Given the description of an element on the screen output the (x, y) to click on. 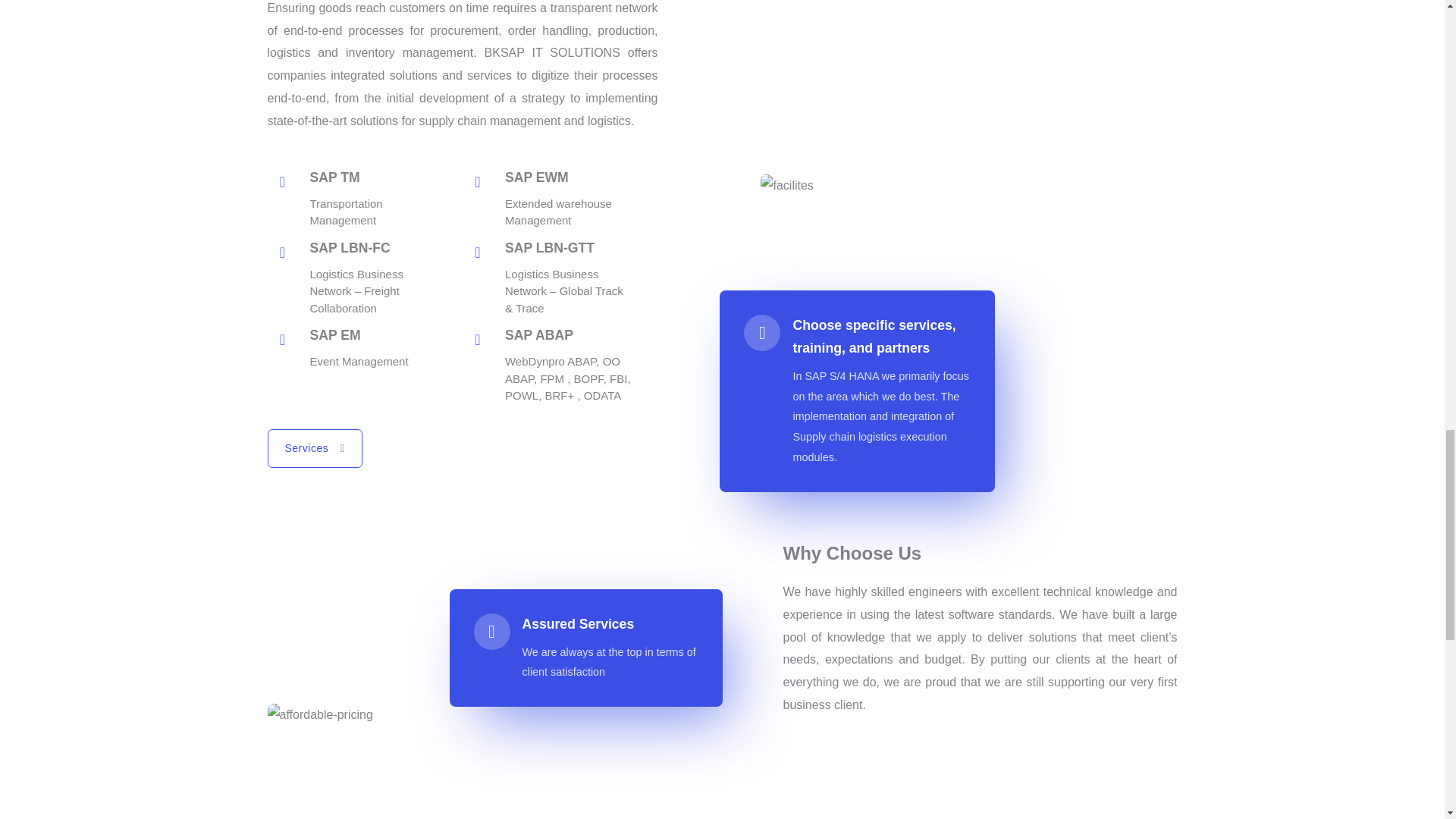
affordable-pricing (469, 714)
facilites (967, 185)
Services (313, 448)
